Given the description of an element on the screen output the (x, y) to click on. 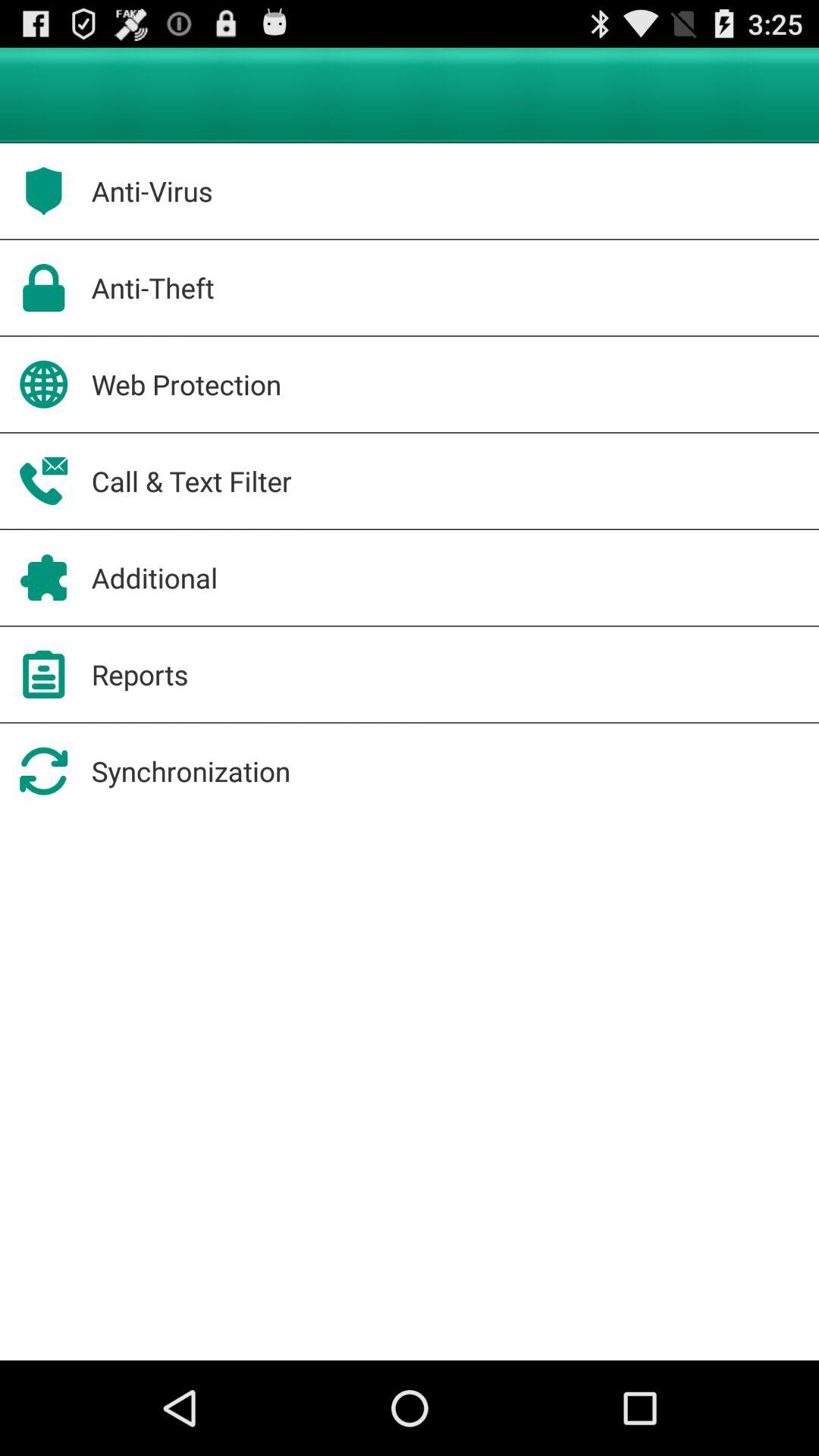
jump until synchronization icon (190, 770)
